Given the description of an element on the screen output the (x, y) to click on. 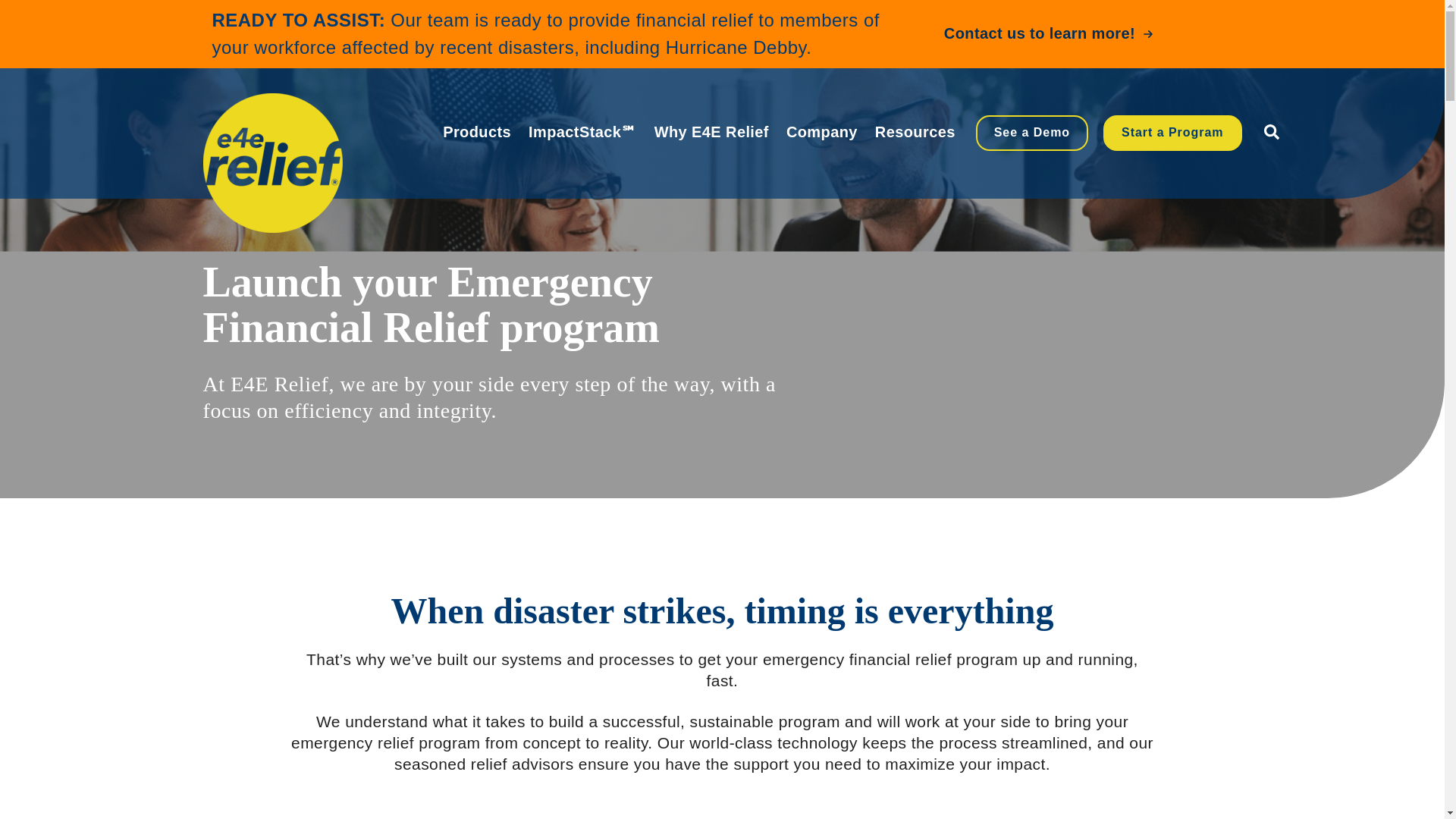
See a Demo (1031, 132)
Resources (915, 139)
Company (821, 139)
Why E4E Relief (710, 139)
Contact us to learn more! (1048, 33)
Start a Program (1172, 132)
Products (476, 139)
